Given the description of an element on the screen output the (x, y) to click on. 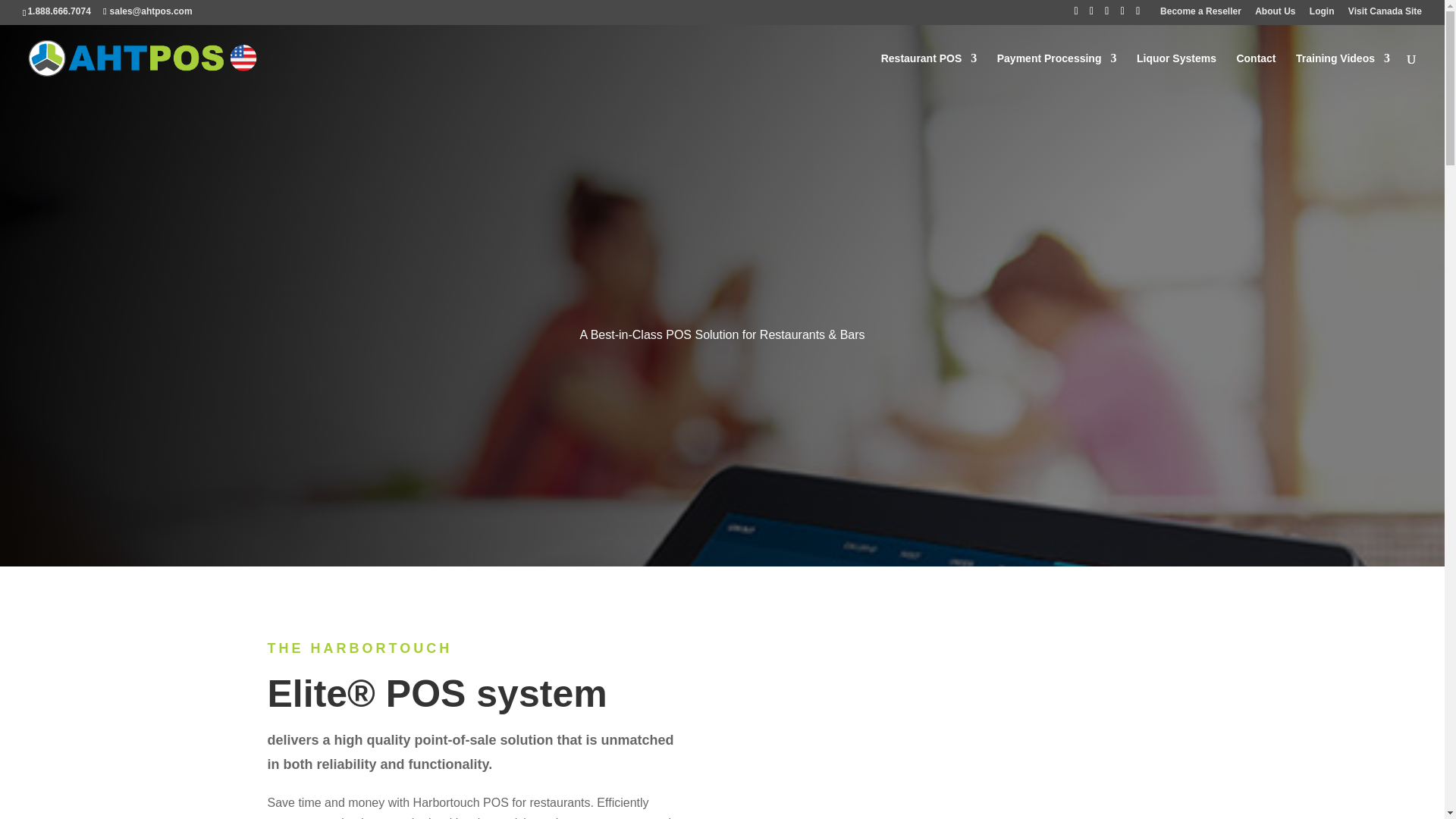
Liquor Systems (1176, 73)
Harbortouch Elite POS Overview (967, 727)
Contact (1255, 73)
Training Videos (1342, 73)
Login (1321, 14)
Visit Canada Site (1385, 14)
Payment Processing (1056, 73)
About Us (1275, 14)
Become a Reseller (1200, 14)
Restaurant POS (928, 73)
